Given the description of an element on the screen output the (x, y) to click on. 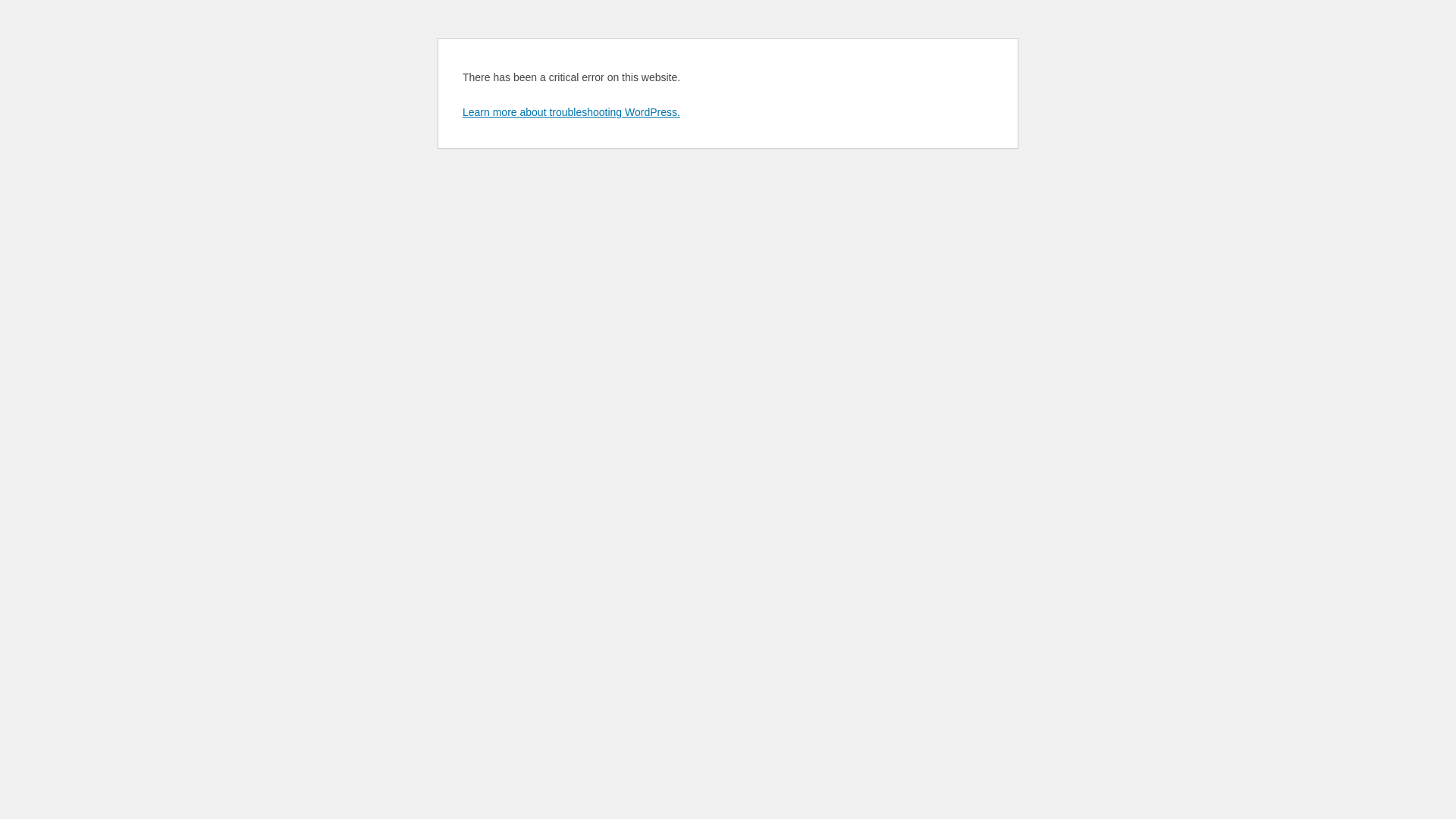
Learn more about troubleshooting WordPress. Element type: text (571, 112)
